Given the description of an element on the screen output the (x, y) to click on. 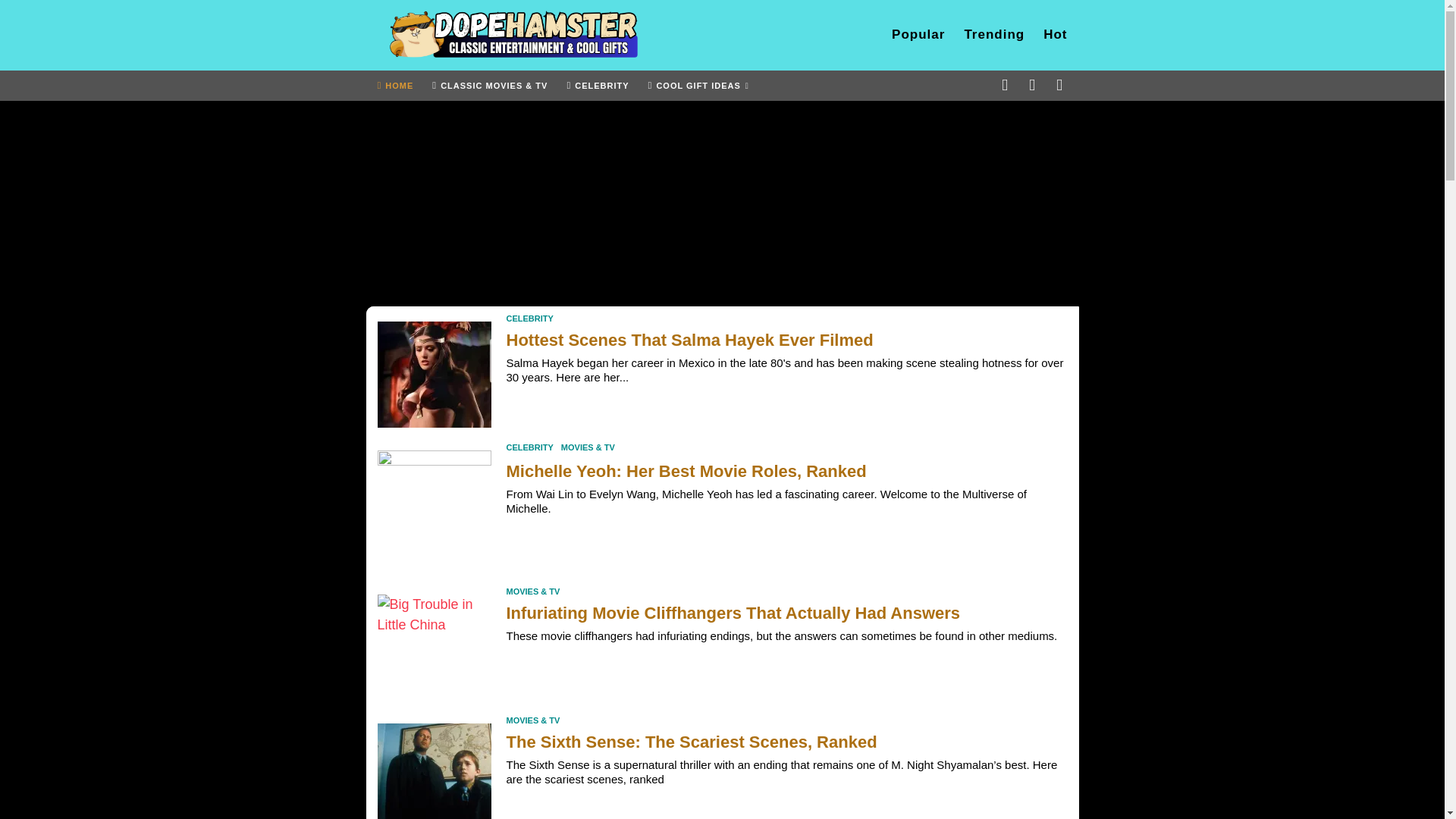
Infuriating Movie Cliffhangers That Actually Had Answers (434, 644)
COOL GIFT IDEAS (698, 85)
Michelle Yeoh: Her Best Movie Roles, Ranked (434, 499)
HOME (395, 85)
Hottest Scenes That Salma Hayek Ever Filmed (434, 370)
Popular (917, 34)
CELEBRITY (597, 85)
Trending (994, 34)
The Sixth Sense: The Scariest Scenes, Ranked (434, 767)
